Given the description of an element on the screen output the (x, y) to click on. 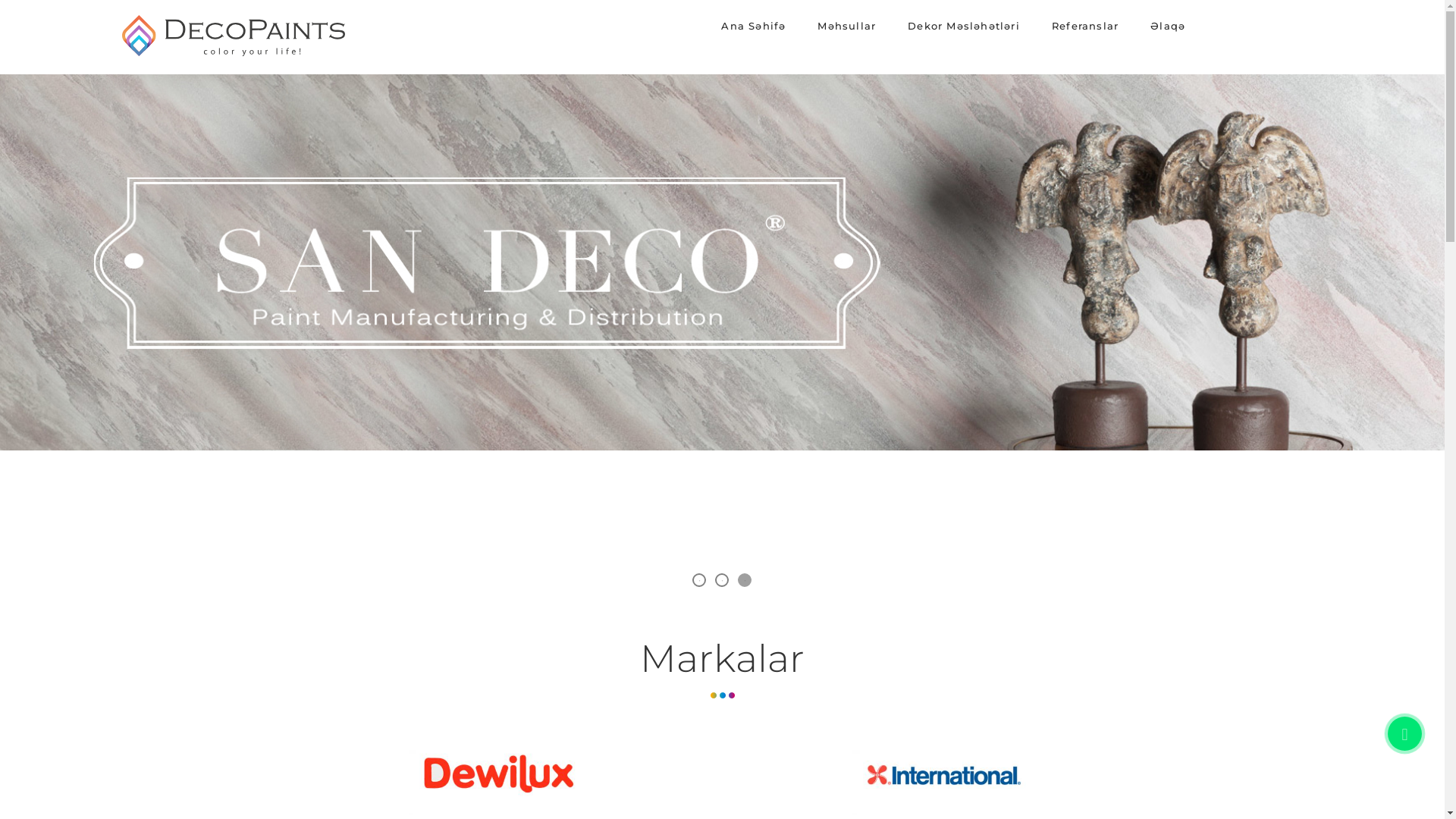
2 Element type: text (721, 579)
3 Element type: text (743, 579)
International Element type: hover (943, 777)
Referanslar Element type: text (1084, 26)
DecoPaints - Painting Company Element type: hover (231, 54)
Dewilux Element type: hover (500, 777)
1 Element type: text (698, 579)
